Given the description of an element on the screen output the (x, y) to click on. 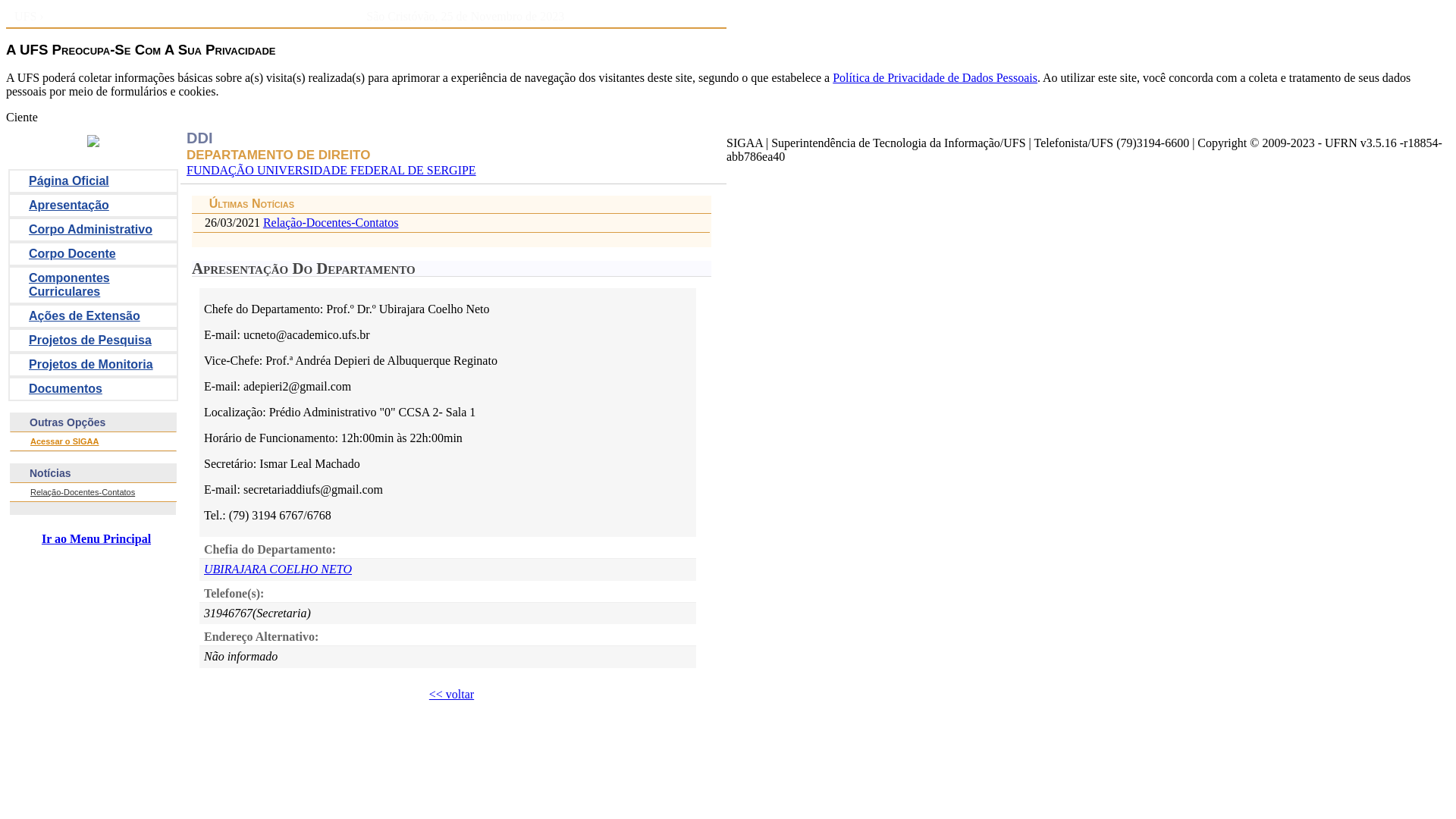
Projetos de Pesquisa Element type: text (92, 340)
Acessar o SIGAA Element type: text (64, 440)
Projetos de Monitoria Element type: text (92, 364)
Corpo Administrativo Element type: text (92, 229)
Componentes Curriculares Element type: text (92, 284)
Corpo Docente Element type: text (92, 253)
UBIRAJARA COELHO NETO Element type: text (277, 568)
Ir ao Menu Principal Element type: text (92, 539)
Documentos Element type: text (92, 388)
v3.5.16 -r18854-abb786ea40 Element type: text (1084, 149)
<< voltar Element type: text (451, 693)
